Given the description of an element on the screen output the (x, y) to click on. 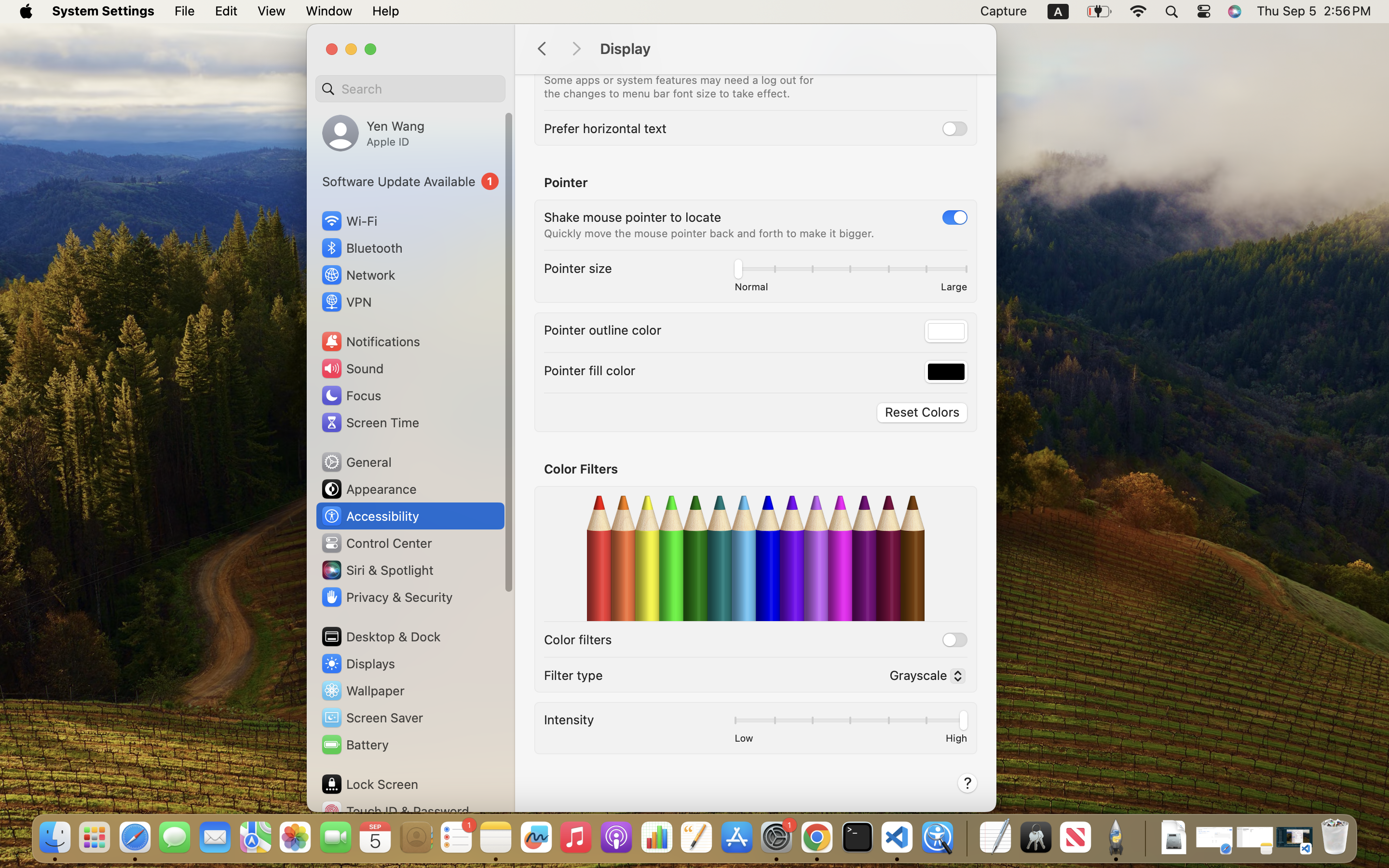
Some apps or system features may need a log out for the changes to menu bar font size to take effect. Element type: AXStaticText (680, 86)
Accessibility Element type: AXStaticText (369, 515)
Pointer fill color Element type: AXStaticText (589, 370)
Battery Element type: AXStaticText (354, 744)
1 Element type: AXRadioButton (869, 63)
